Given the description of an element on the screen output the (x, y) to click on. 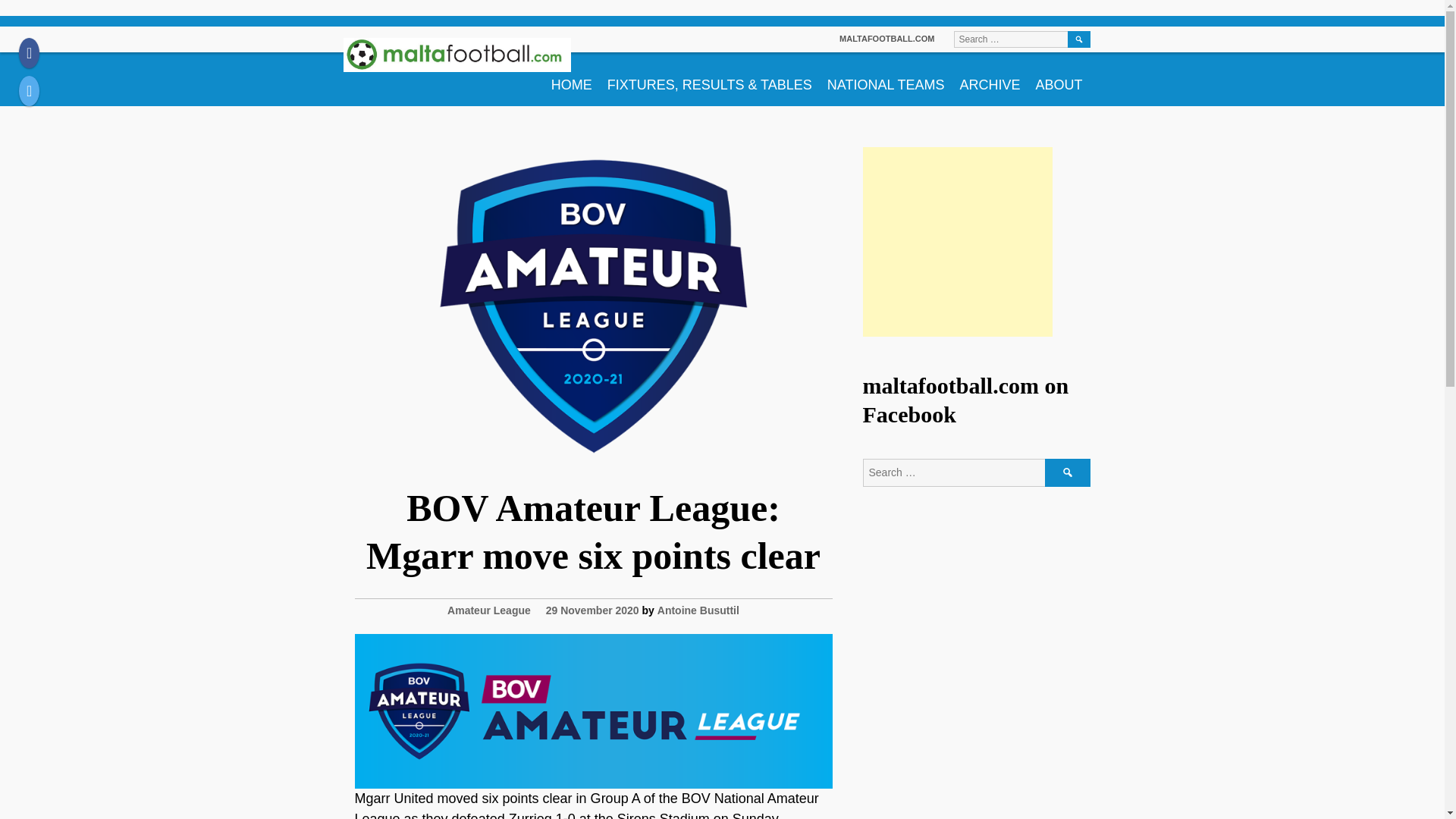
HOME (571, 79)
MALTAFOOTBALL.COM (887, 38)
NATIONAL TEAMS (885, 79)
ARCHIVE (989, 79)
Search (1067, 472)
Search (1078, 39)
